Given the description of an element on the screen output the (x, y) to click on. 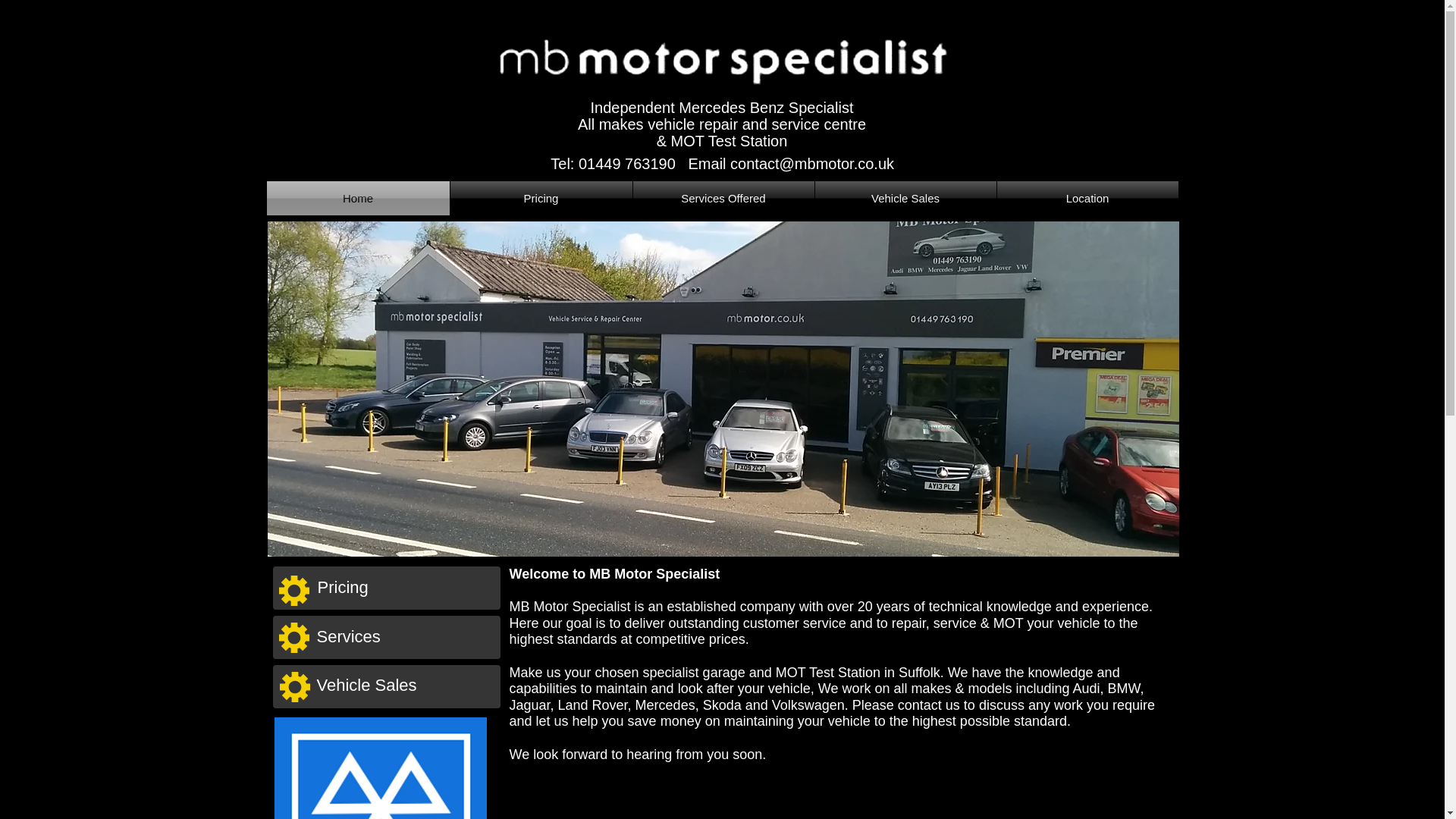
Services Offered (722, 197)
Vehicle Sales (904, 197)
Location (1086, 197)
Vehicle Sales (404, 685)
Services (403, 637)
Pricing (404, 587)
download.png (380, 767)
Pricing (540, 197)
Home (357, 197)
